Given the description of an element on the screen output the (x, y) to click on. 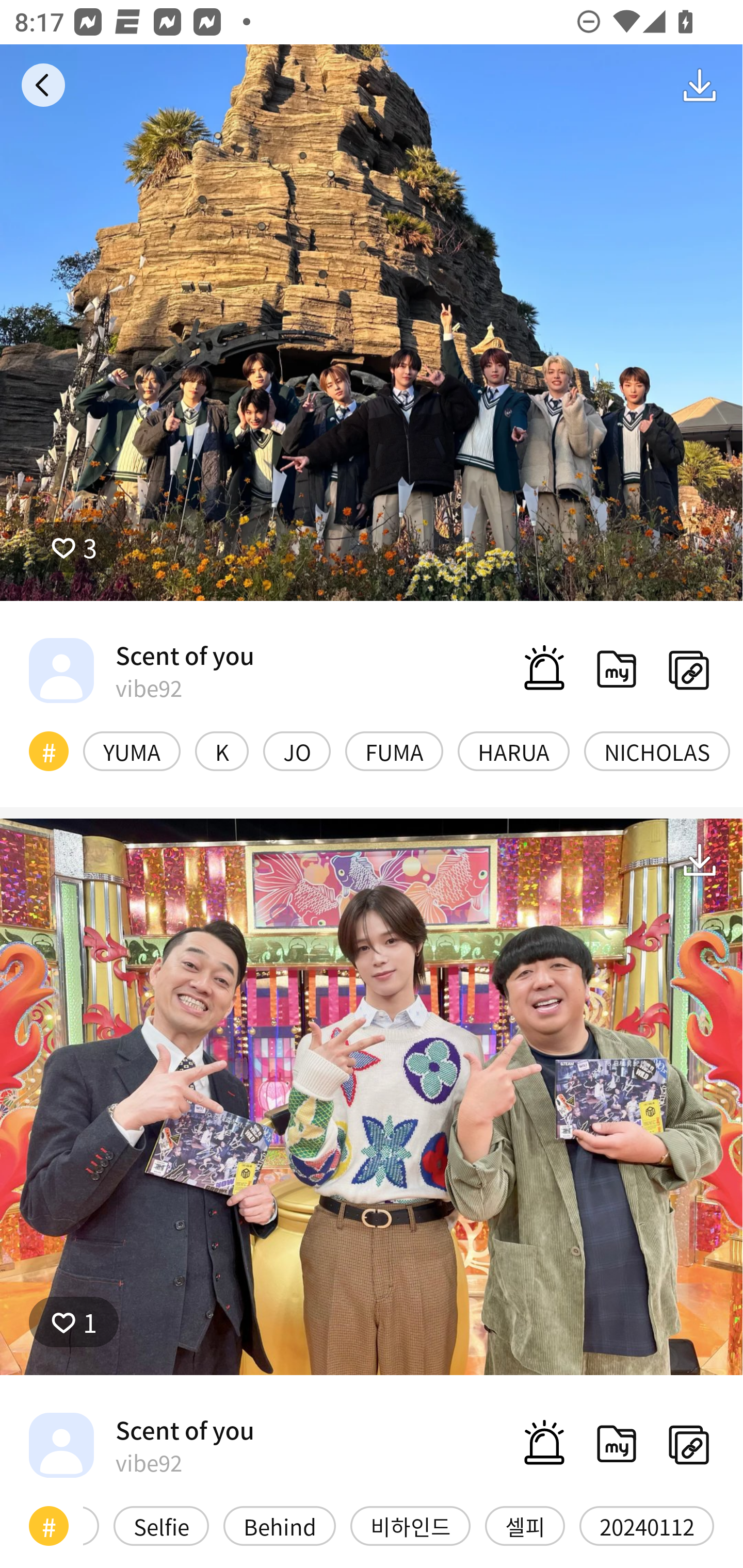
3 (371, 322)
3 (73, 547)
Scent of you vibe92 (141, 670)
YUMA (131, 750)
K (221, 750)
JO (296, 750)
FUMA (394, 750)
HARUA (513, 750)
NICHOLAS (656, 750)
1 (371, 1096)
1 (73, 1321)
Scent of you vibe92 (141, 1444)
Selfie (160, 1526)
Behind (279, 1526)
비하인드 (410, 1526)
셀피 (524, 1526)
20240112 (646, 1526)
